Given the description of an element on the screen output the (x, y) to click on. 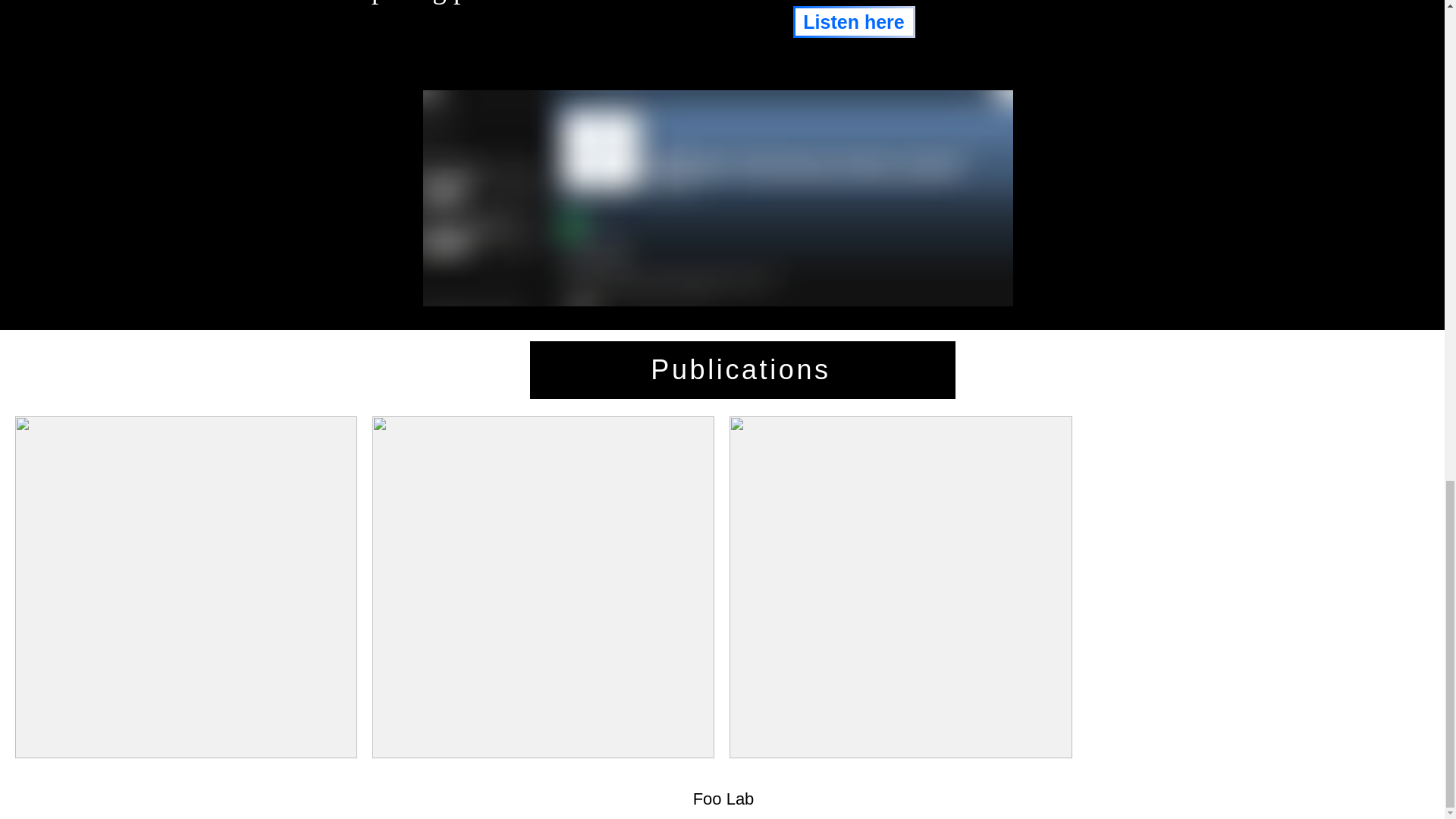
Publications (742, 369)
Listen here (854, 21)
